Given the description of an element on the screen output the (x, y) to click on. 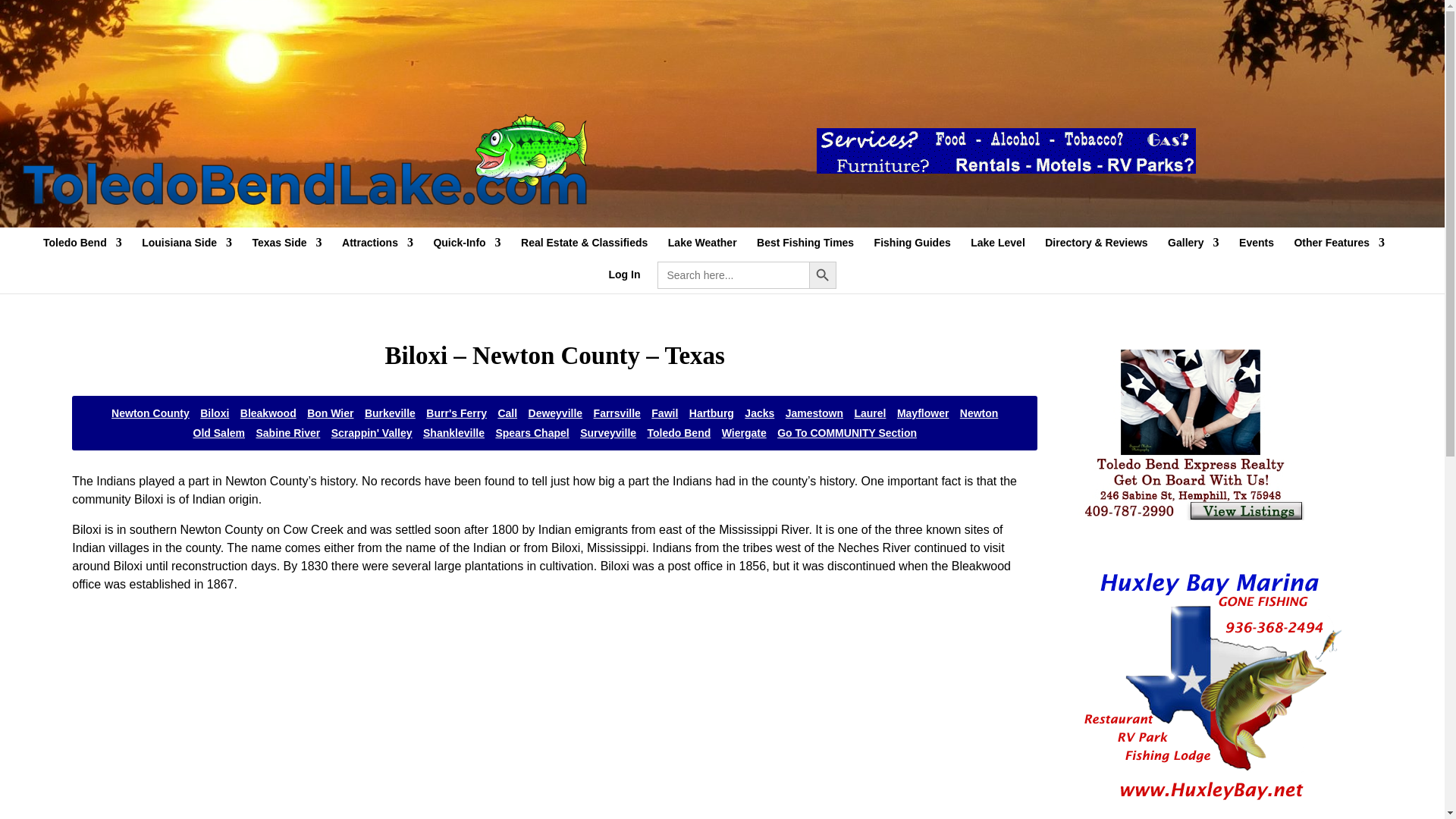
Toledo Bend (82, 249)
